Given the description of an element on the screen output the (x, y) to click on. 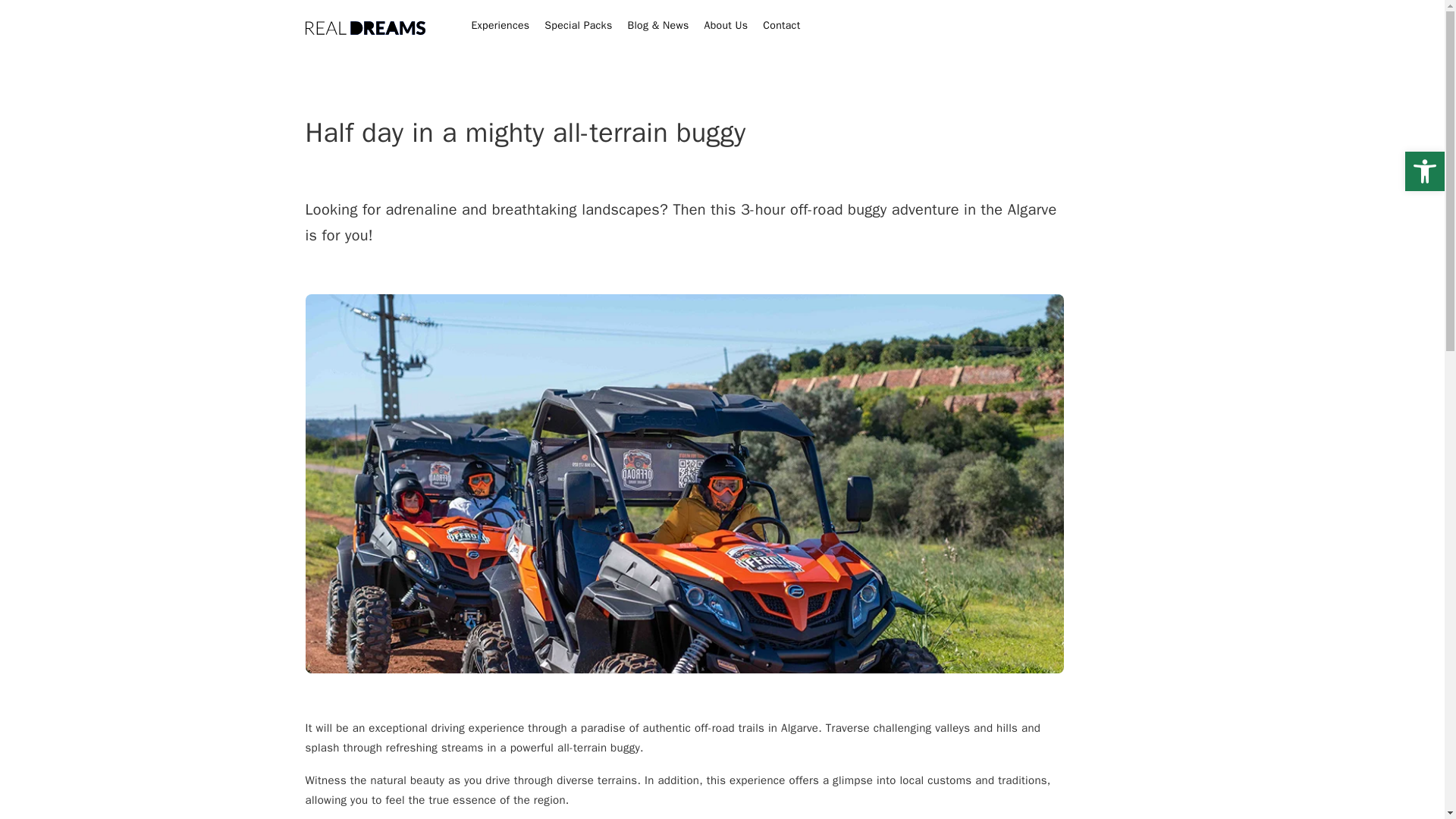
Special Packs (577, 26)
Experiences (499, 26)
Experiences (499, 26)
Contact (780, 26)
About Us (726, 26)
Contact (780, 26)
Accessibility Tools (1424, 170)
About Us (726, 26)
Special Packs (577, 26)
